Given the description of an element on the screen output the (x, y) to click on. 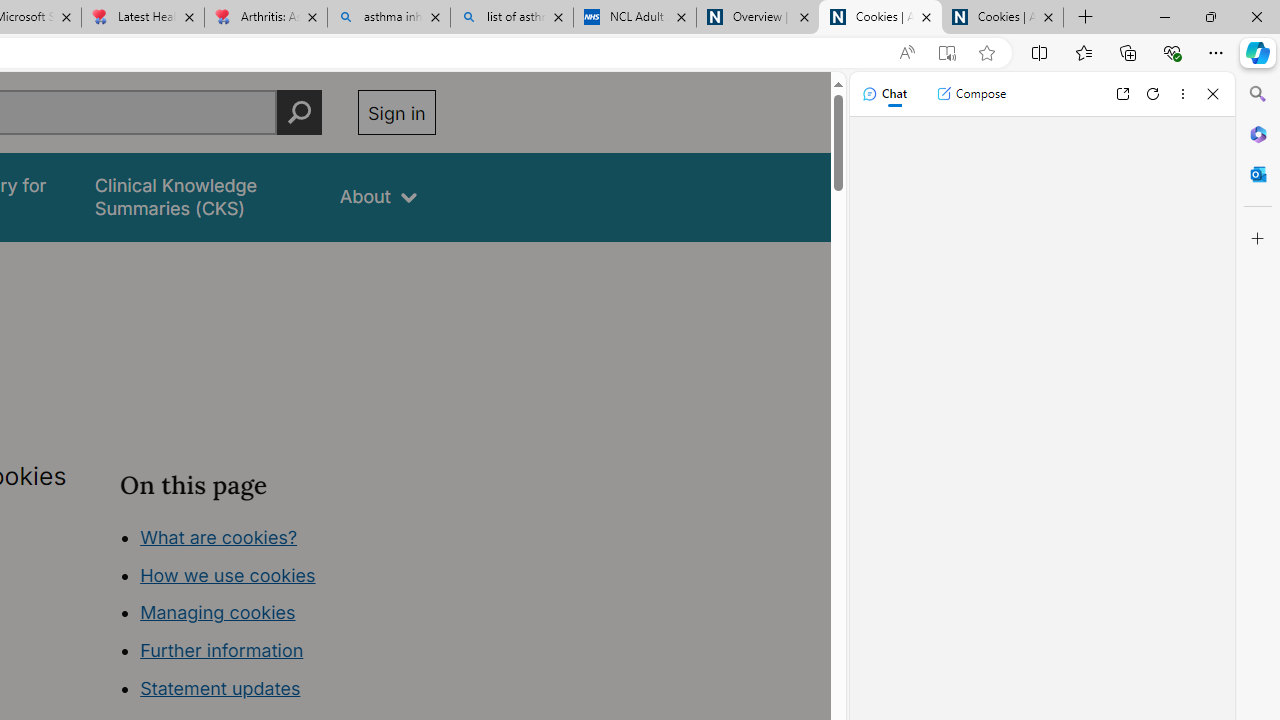
false (198, 196)
Arthritis: Ask Health Professionals (265, 17)
Class: in-page-nav__list (277, 615)
list of asthma inhalers uk - Search (511, 17)
Statement updates (219, 688)
Cookies | About | NICE (1002, 17)
